Given the description of an element on the screen output the (x, y) to click on. 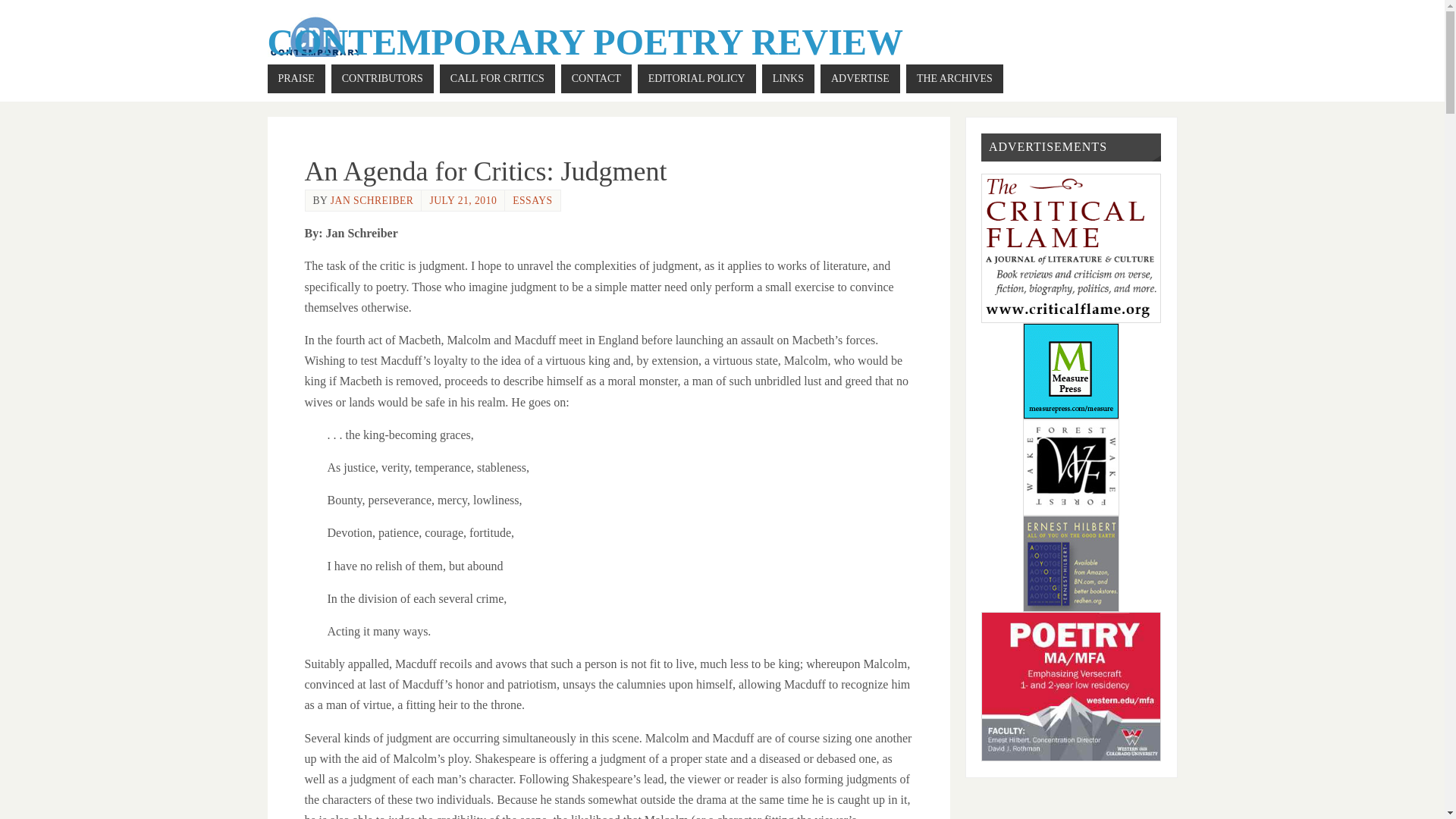
CONTEMPORARY POETRY REVIEW (584, 42)
Contemporary Poetry Review (584, 42)
CONTRIBUTORS (382, 78)
View all posts by Jan Schreiber (371, 200)
PRAISE (295, 78)
JAN SCHREIBER (371, 200)
LINKS (787, 78)
EDITORIAL POLICY (696, 78)
ESSAYS (531, 200)
CALL FOR CRITICS (496, 78)
